Given the description of an element on the screen output the (x, y) to click on. 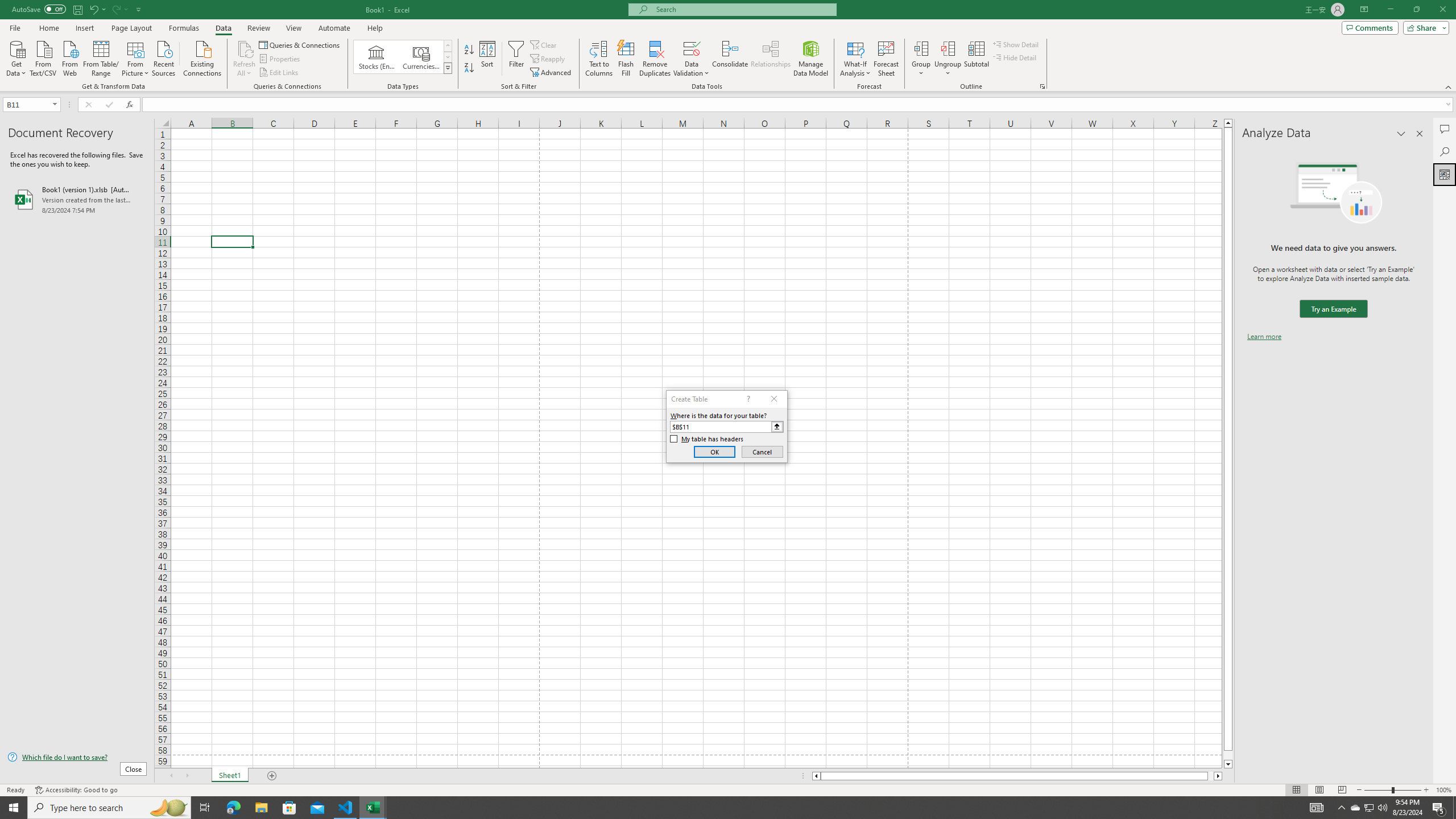
Zoom (1392, 790)
Flash Fill (625, 58)
Page down (1228, 755)
File Tab (15, 27)
Zoom In (1426, 790)
Column left (815, 775)
Microsoft search (742, 9)
Normal (1296, 790)
Search (1444, 151)
Class: NetUIScrollBar (1016, 775)
Data Validation... (691, 48)
Get Data (16, 57)
Column right (1218, 775)
Customize Quick Access Toolbar (139, 9)
